Given the description of an element on the screen output the (x, y) to click on. 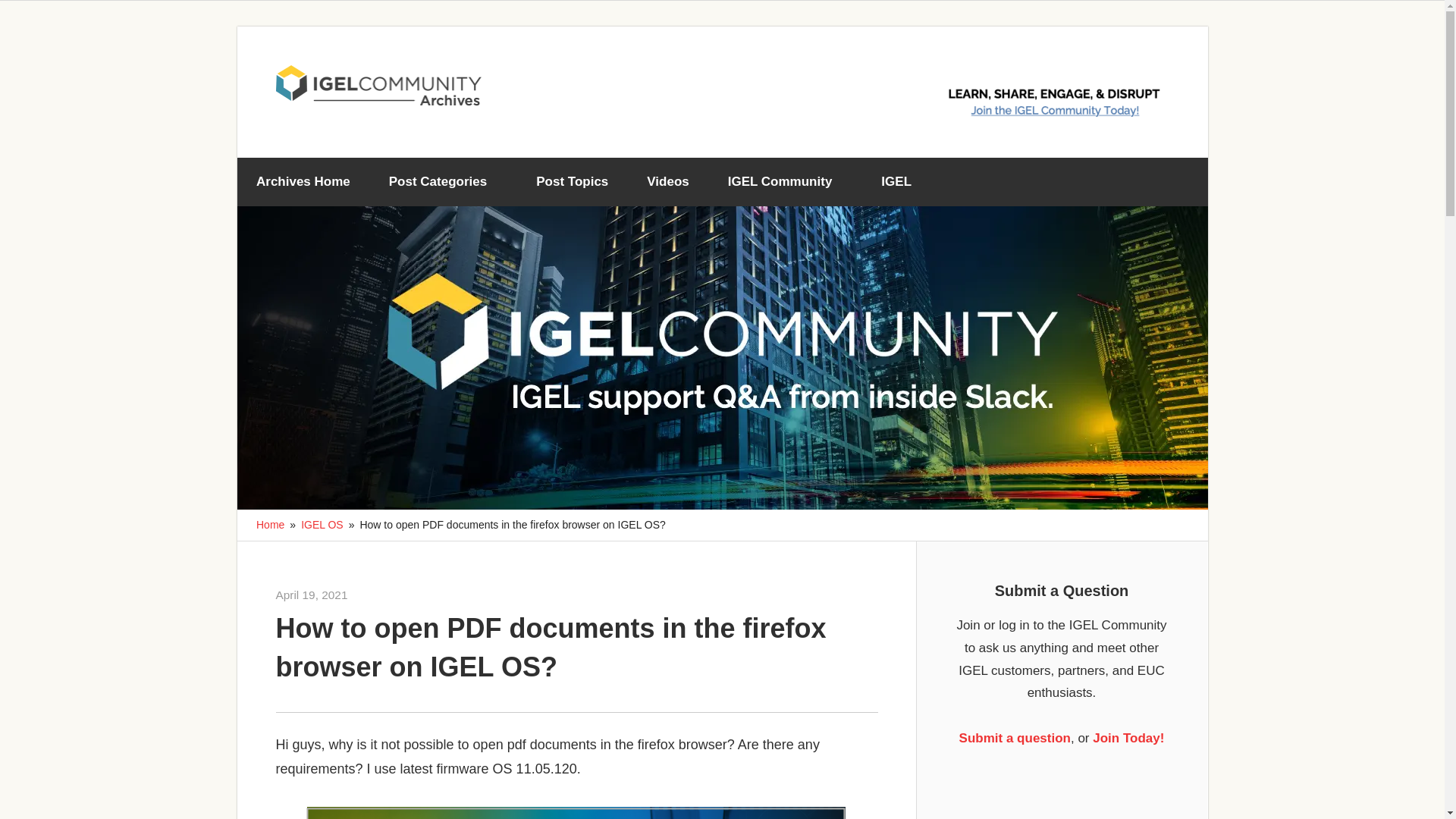
Post Categories (442, 182)
IGEL (901, 182)
View all posts by IGEL Community Archives (408, 594)
IGEL Community (784, 182)
10:03 am (311, 594)
Post Topics (571, 182)
Videos (667, 182)
Home (269, 524)
Archives Home (302, 182)
